Given the description of an element on the screen output the (x, y) to click on. 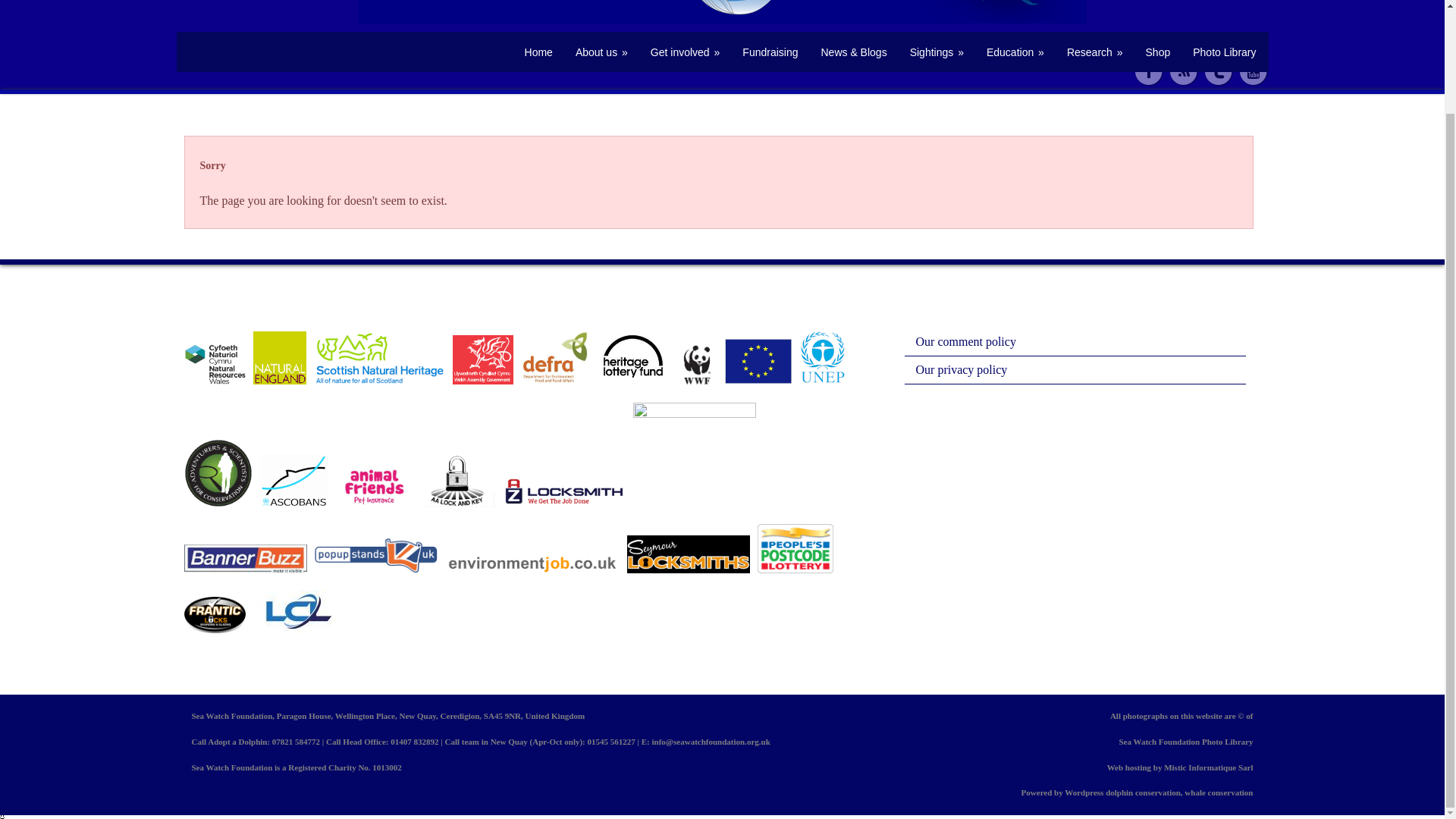
Sea Watch Foundation (538, 52)
About Sea Watch Foundation (601, 52)
Whale and dolphin conservation volunteering (685, 52)
Fundraising (769, 52)
Home (538, 52)
